Given the description of an element on the screen output the (x, y) to click on. 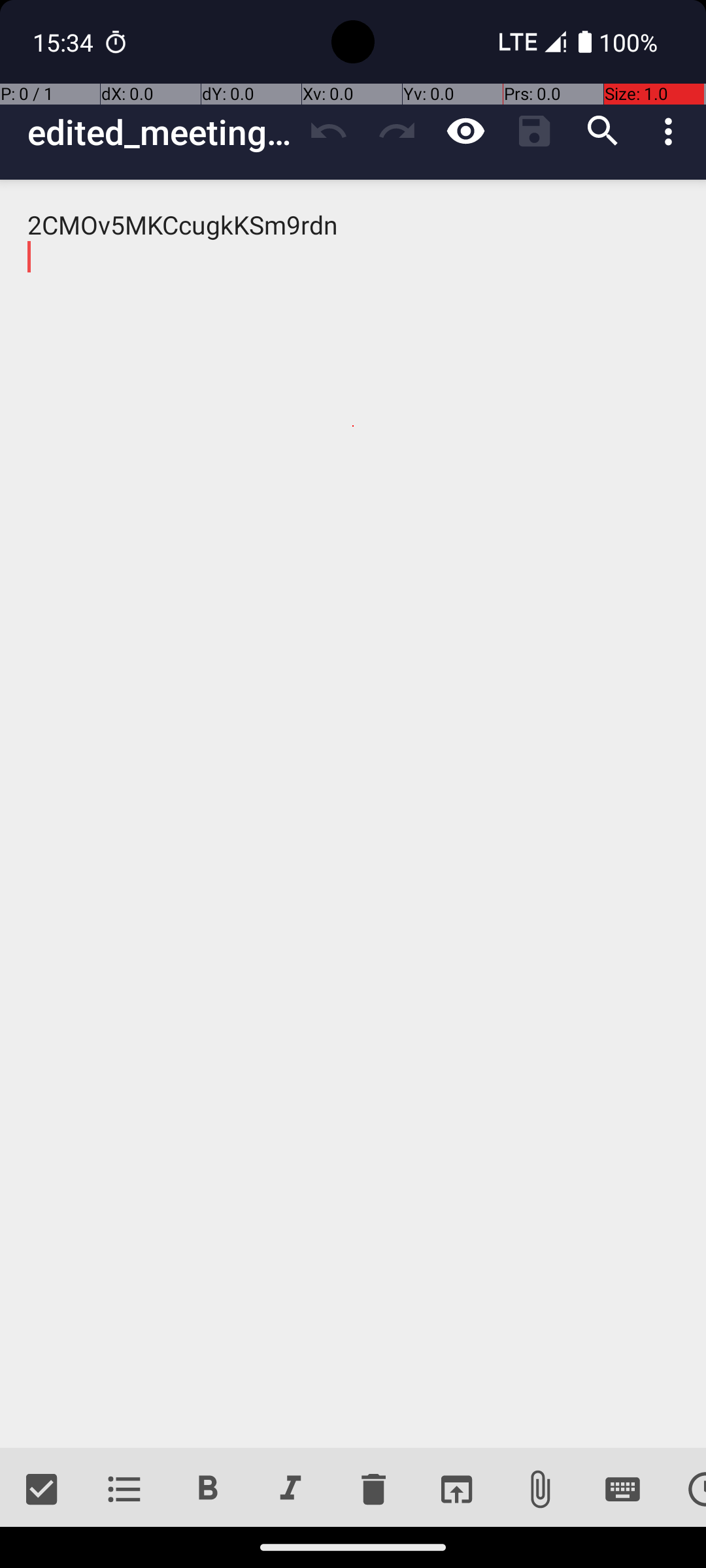
edited_meeting_notes_project_team Element type: android.widget.TextView (160, 131)
2CMOv5MKCcugkKSm9rdn
 Element type: android.widget.EditText (353, 813)
